Given the description of an element on the screen output the (x, y) to click on. 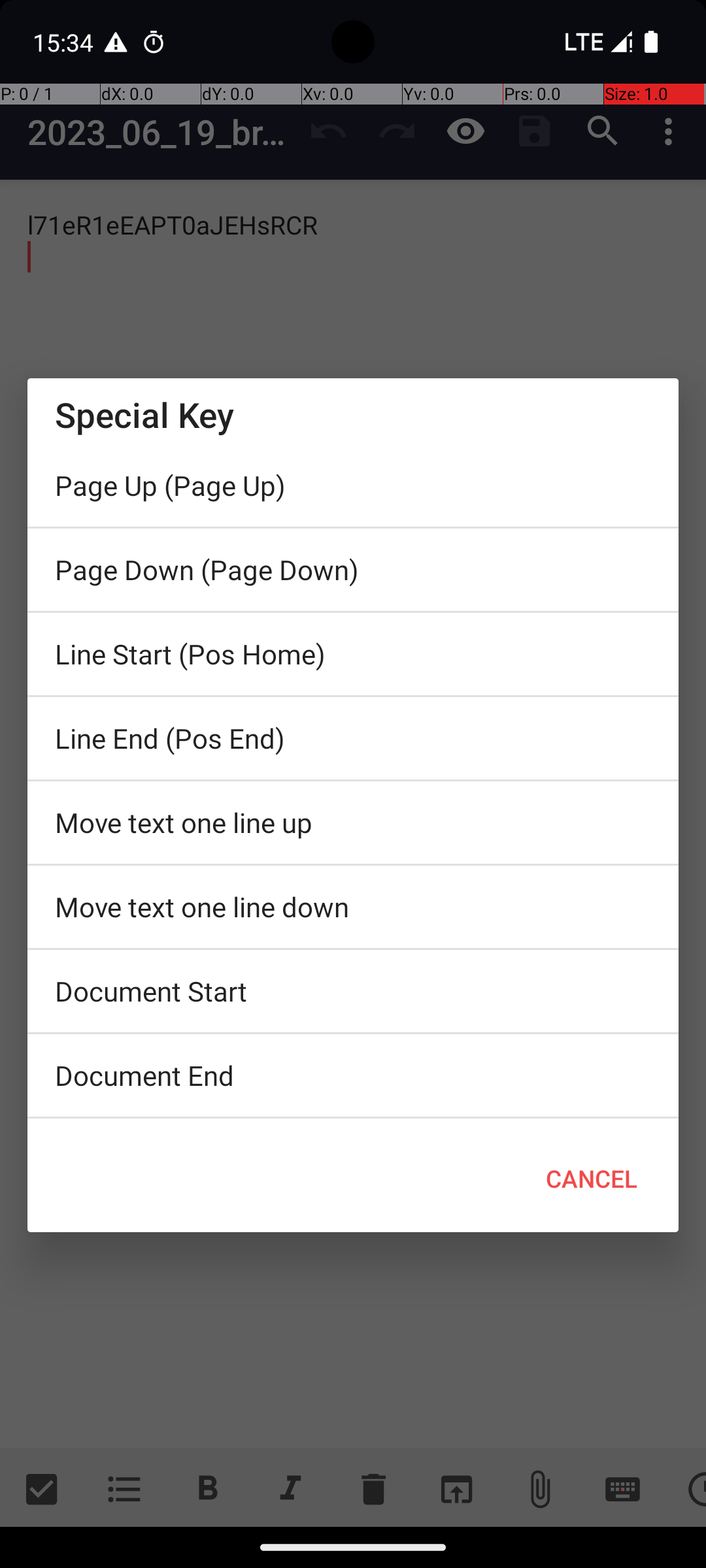
Special Key Element type: android.widget.TextView (352, 414)
Page Up (Page Up) Element type: android.widget.TextView (352, 485)
Page Down (Page Down) Element type: android.widget.TextView (352, 569)
Line Start (Pos Home) Element type: android.widget.TextView (352, 653)
Line End (Pos End) Element type: android.widget.TextView (352, 738)
Move text one line up Element type: android.widget.TextView (352, 822)
Move text one line down Element type: android.widget.TextView (352, 906)
Document Start Element type: android.widget.TextView (352, 990)
Document End Element type: android.widget.TextView (352, 1075)
Select all (Ctrl+A) Element type: android.widget.TextView (352, 1121)
